Given the description of an element on the screen output the (x, y) to click on. 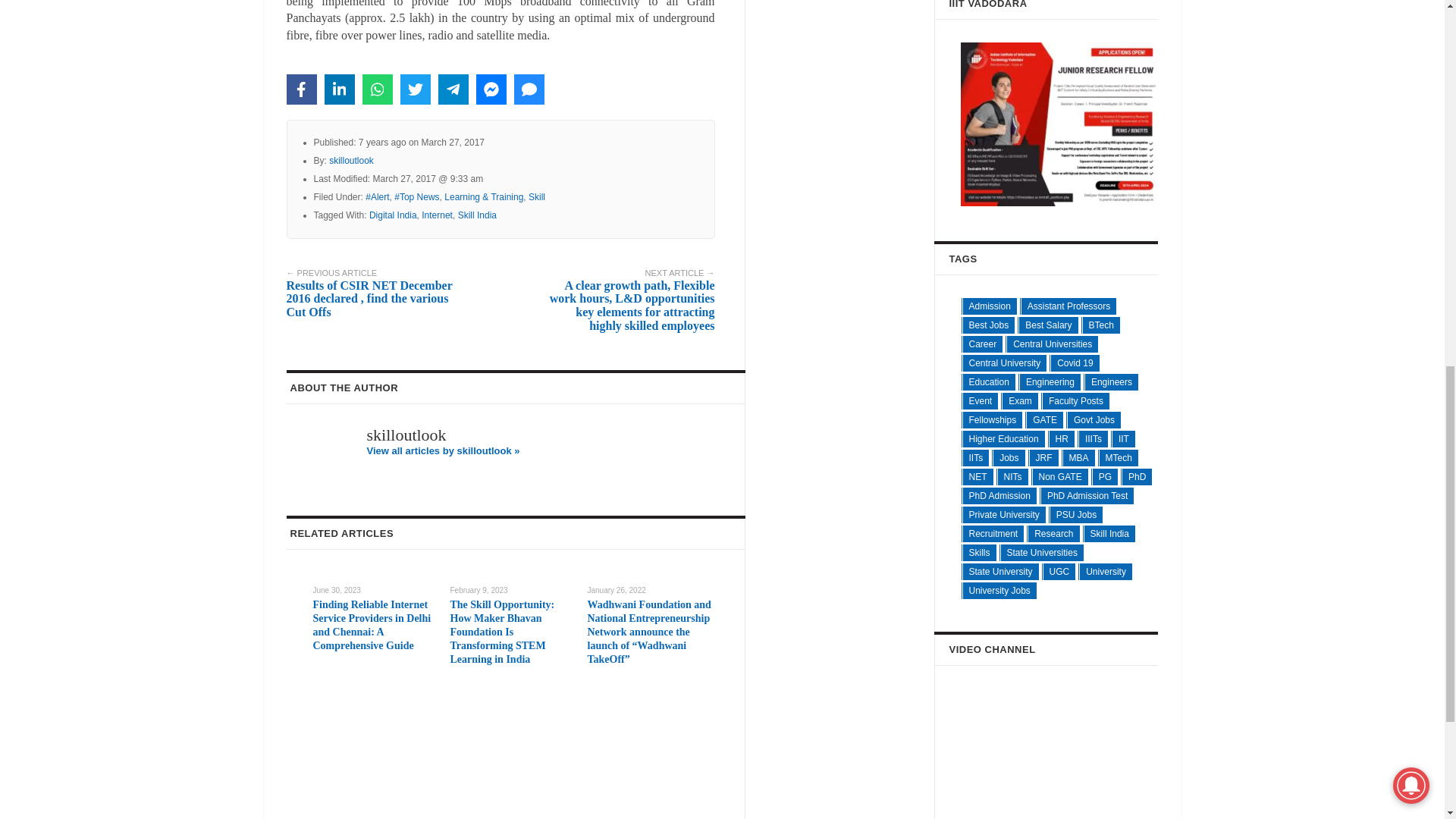
Skill (536, 196)
skilloutlook (351, 160)
Posts by skilloutlook (406, 434)
Posts by skilloutlook (351, 160)
Digital India (392, 214)
Internet (437, 214)
